Given the description of an element on the screen output the (x, y) to click on. 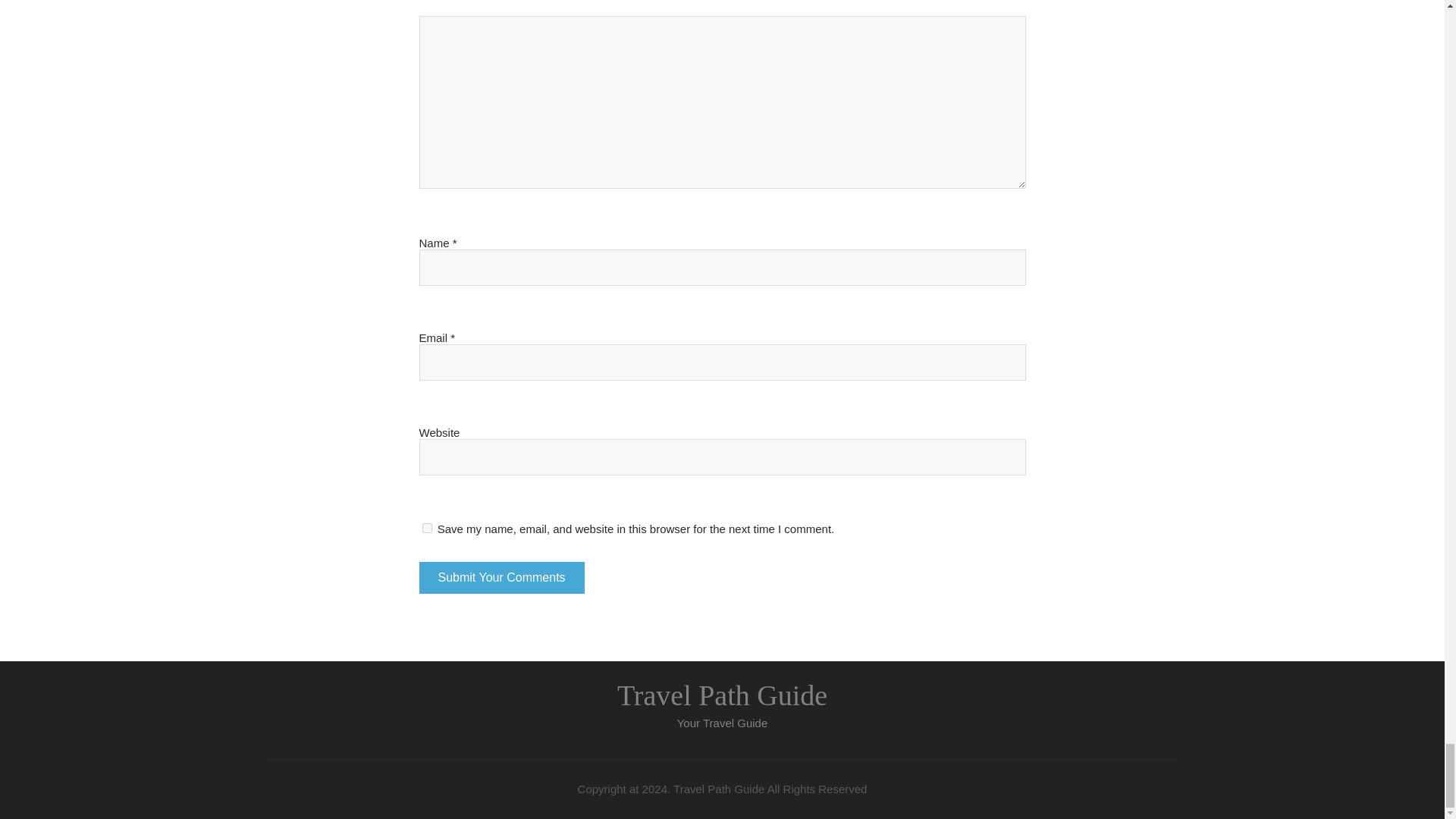
Submit Your Comments (501, 577)
Submit Your Comments (501, 577)
yes (426, 528)
Travel Path Guide (722, 695)
Travel Path Guide (722, 695)
